Given the description of an element on the screen output the (x, y) to click on. 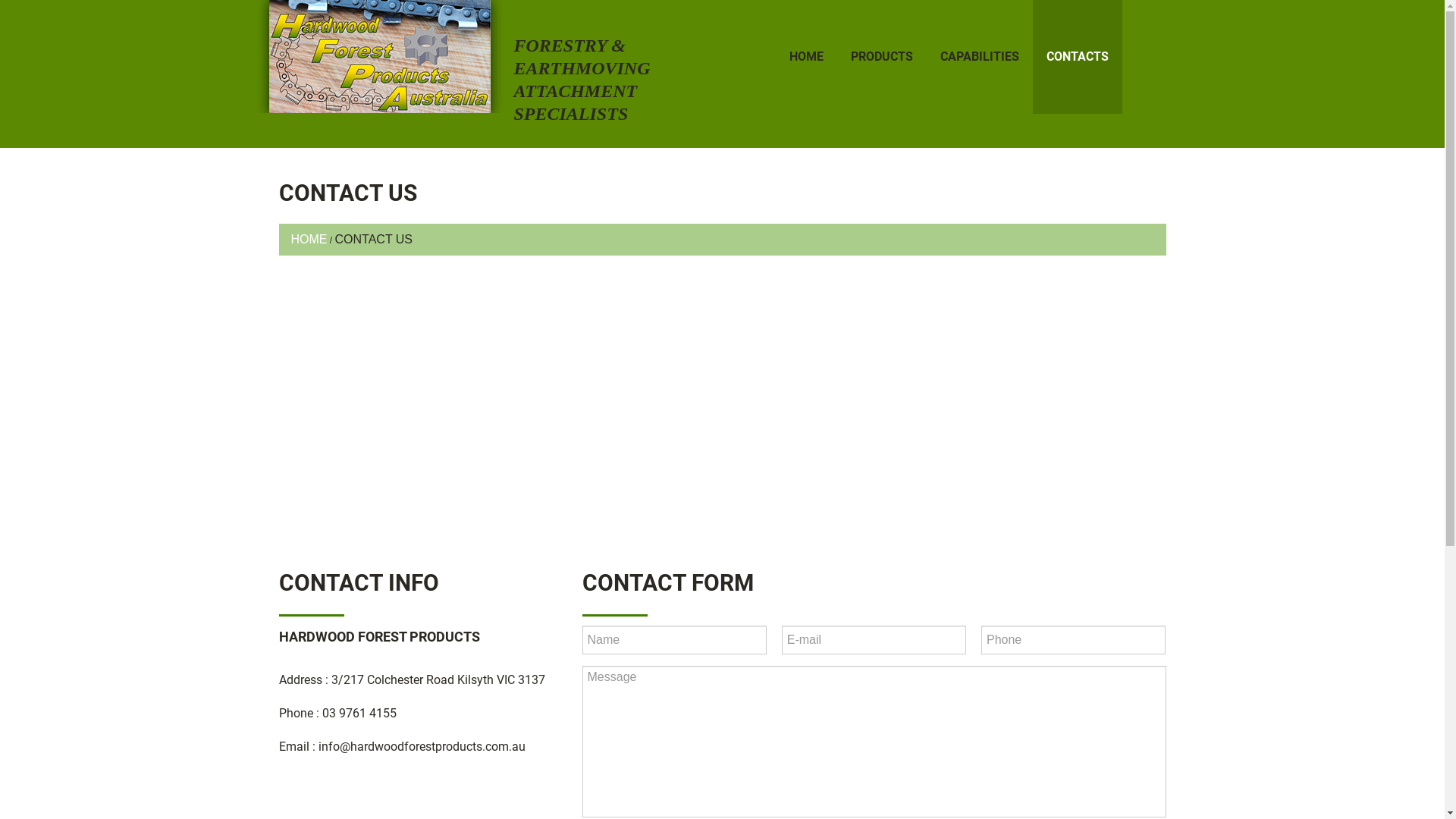
CAPABILITIES Element type: text (979, 56)
info@hardwoodforestproducts.com.au Element type: text (421, 746)
03 9761 4155 Element type: text (358, 713)
HOME Element type: text (805, 56)
HOME Element type: text (309, 238)
PRODUCTS Element type: text (881, 56)
CONTACTS Element type: text (1077, 56)
